Given the description of an element on the screen output the (x, y) to click on. 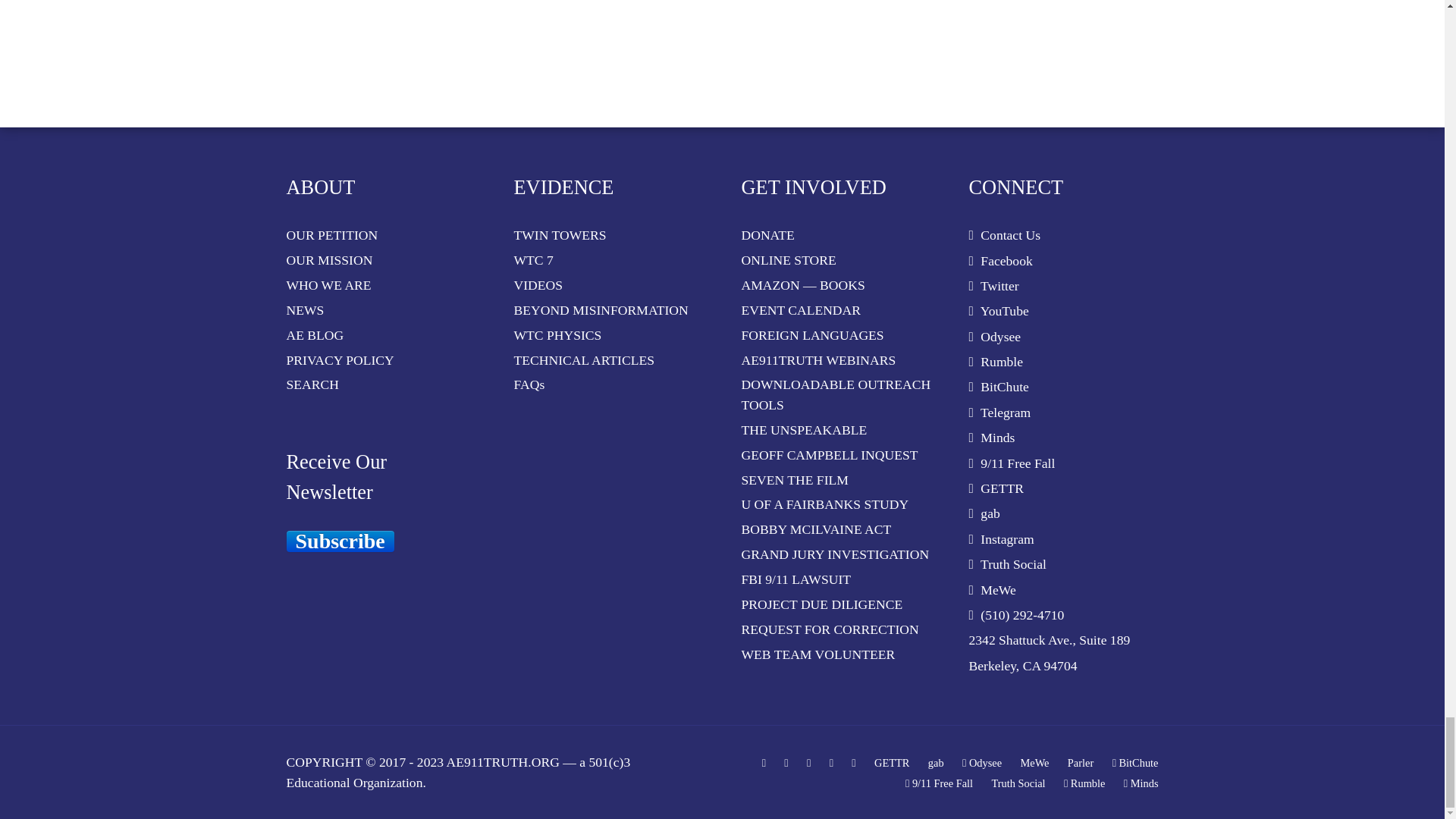
Telegram (853, 763)
BitChute (1135, 763)
Project Due Diligence (836, 604)
YouTube (808, 763)
Facebook (763, 763)
Odysee (982, 763)
GETTR (891, 763)
REQUEST FOR CORRECTION (836, 629)
gab (936, 763)
Subscribe (340, 541)
